Given the description of an element on the screen output the (x, y) to click on. 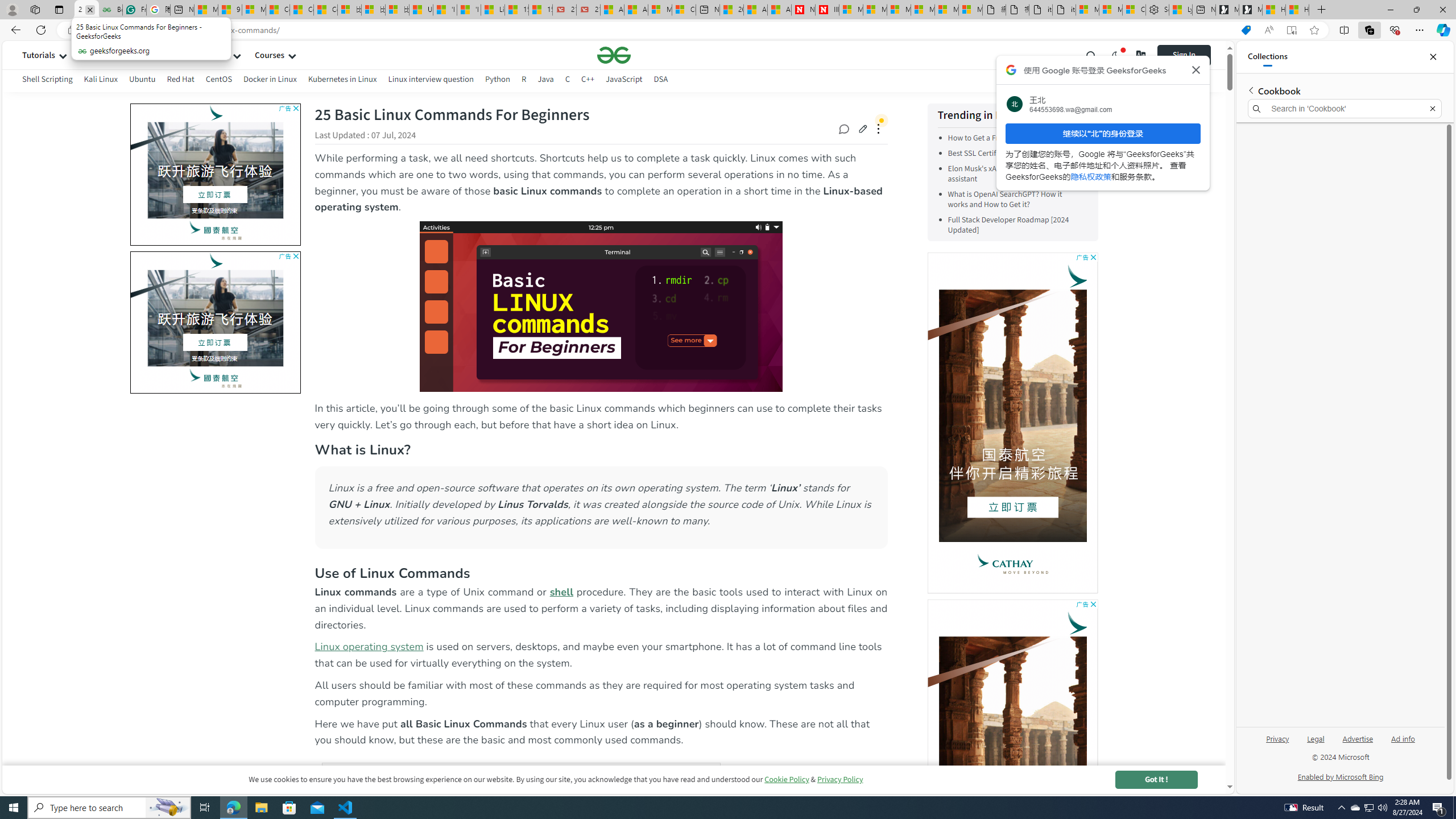
View More (1067, 115)
Basic Linux Commands (601, 306)
This site has coupons! Shopping in Microsoft Edge (1245, 29)
DSA (660, 80)
Kubernetes in Linux (341, 79)
USA TODAY - MSN (421, 9)
Full Stack Developer Roadmap [2024 Updated] (1015, 224)
